Given the description of an element on the screen output the (x, y) to click on. 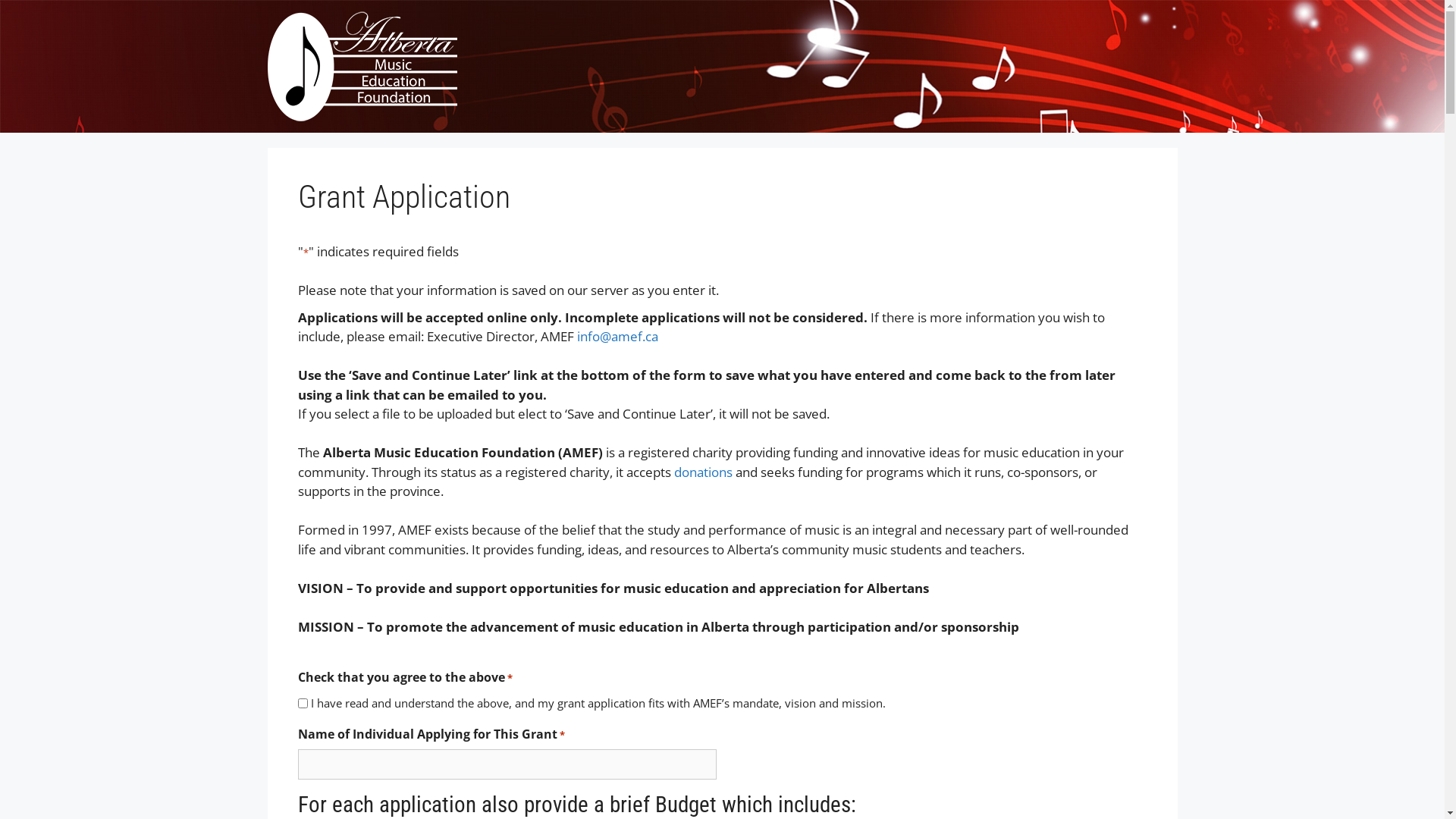
info@amef.ca Element type: text (616, 336)
donations Element type: text (702, 471)
